Given the description of an element on the screen output the (x, y) to click on. 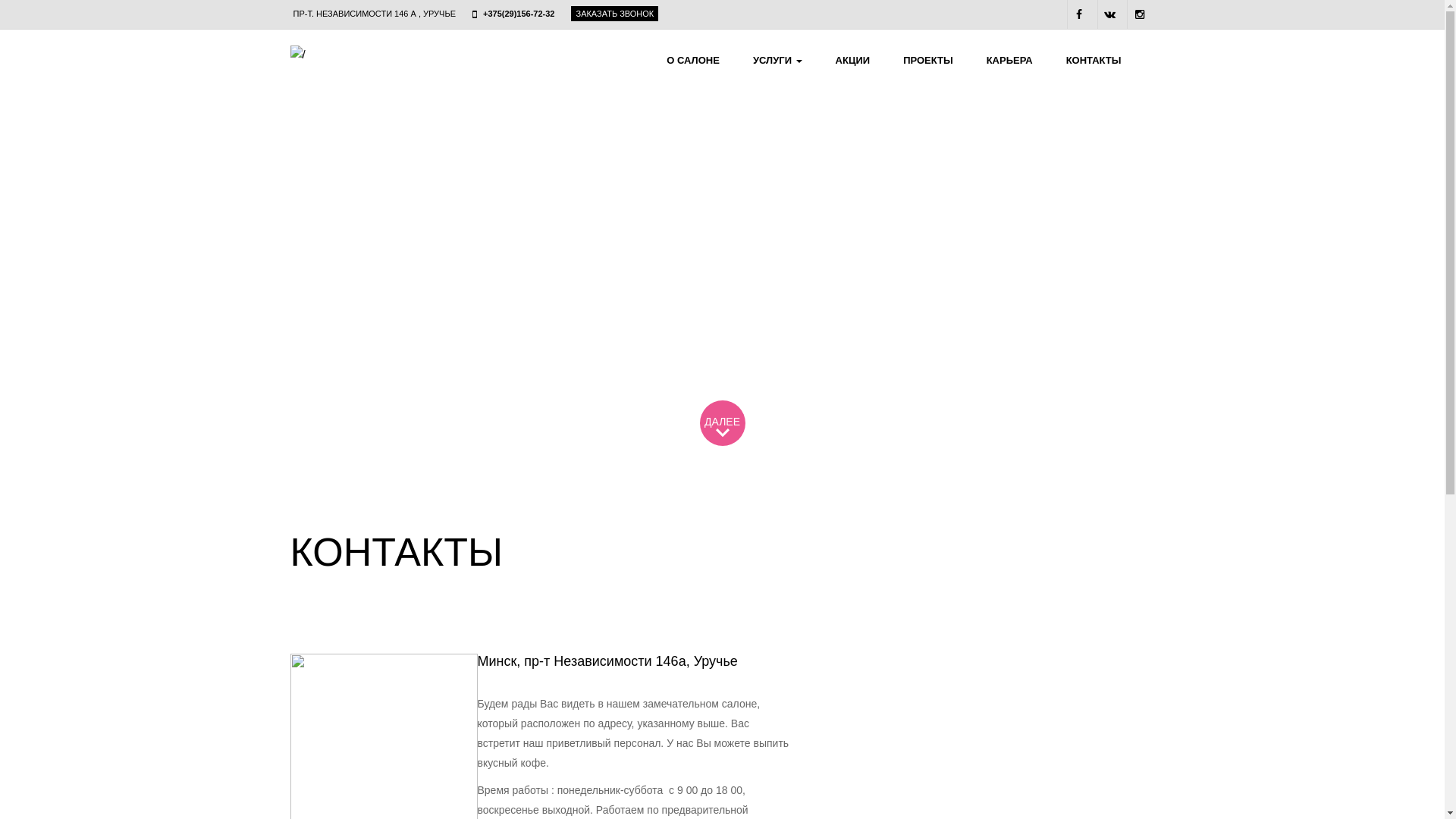
  Element type: text (1110, 14)
  Element type: text (1140, 14)
  Element type: text (1080, 14)
